Given the description of an element on the screen output the (x, y) to click on. 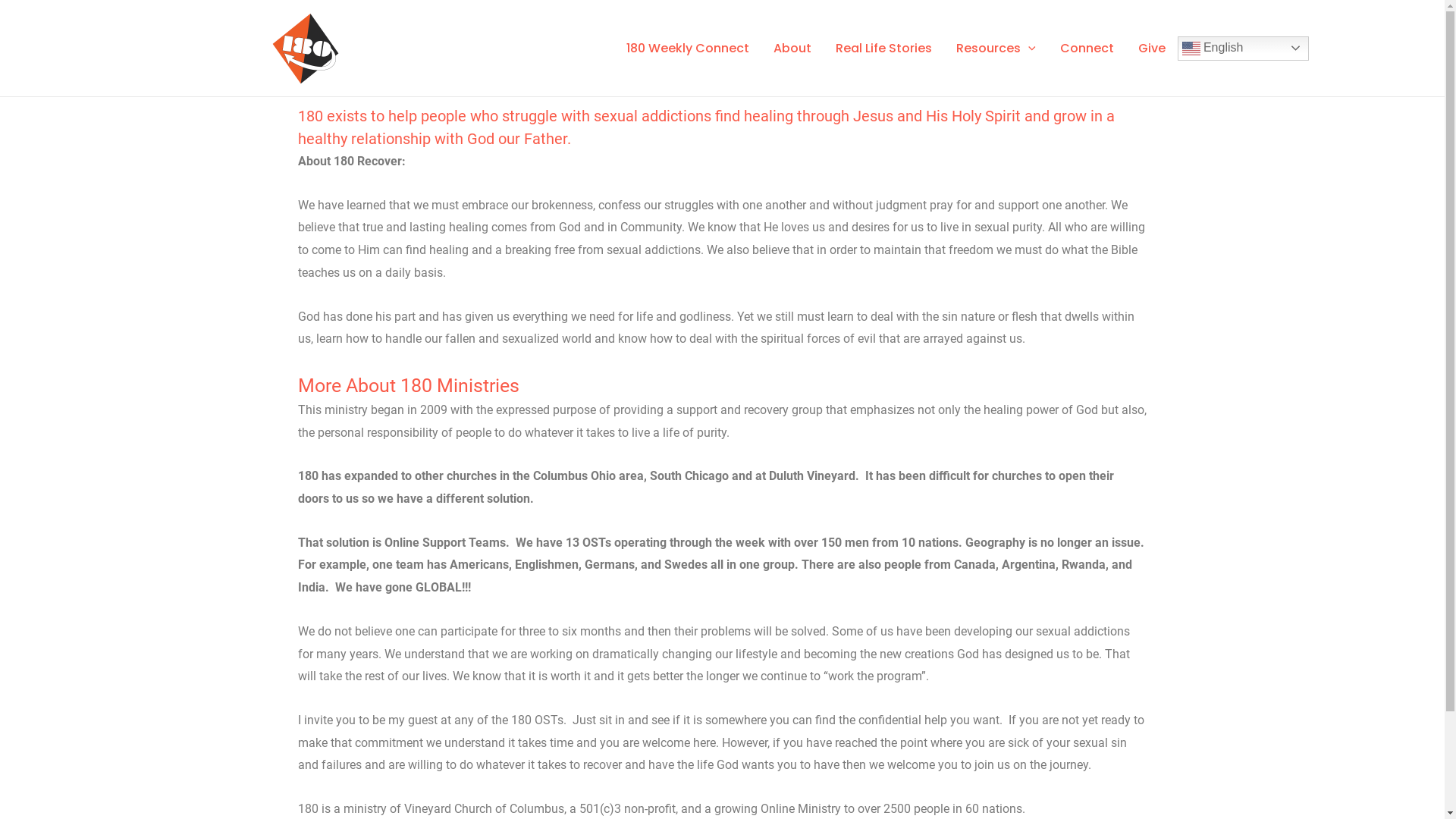
Connect Element type: text (1087, 47)
English Element type: text (1242, 48)
About Element type: text (792, 47)
180 Weekly Connect Element type: text (687, 47)
Give Element type: text (1150, 47)
Resources Element type: text (996, 47)
Real Life Stories Element type: text (883, 47)
